Given the description of an element on the screen output the (x, y) to click on. 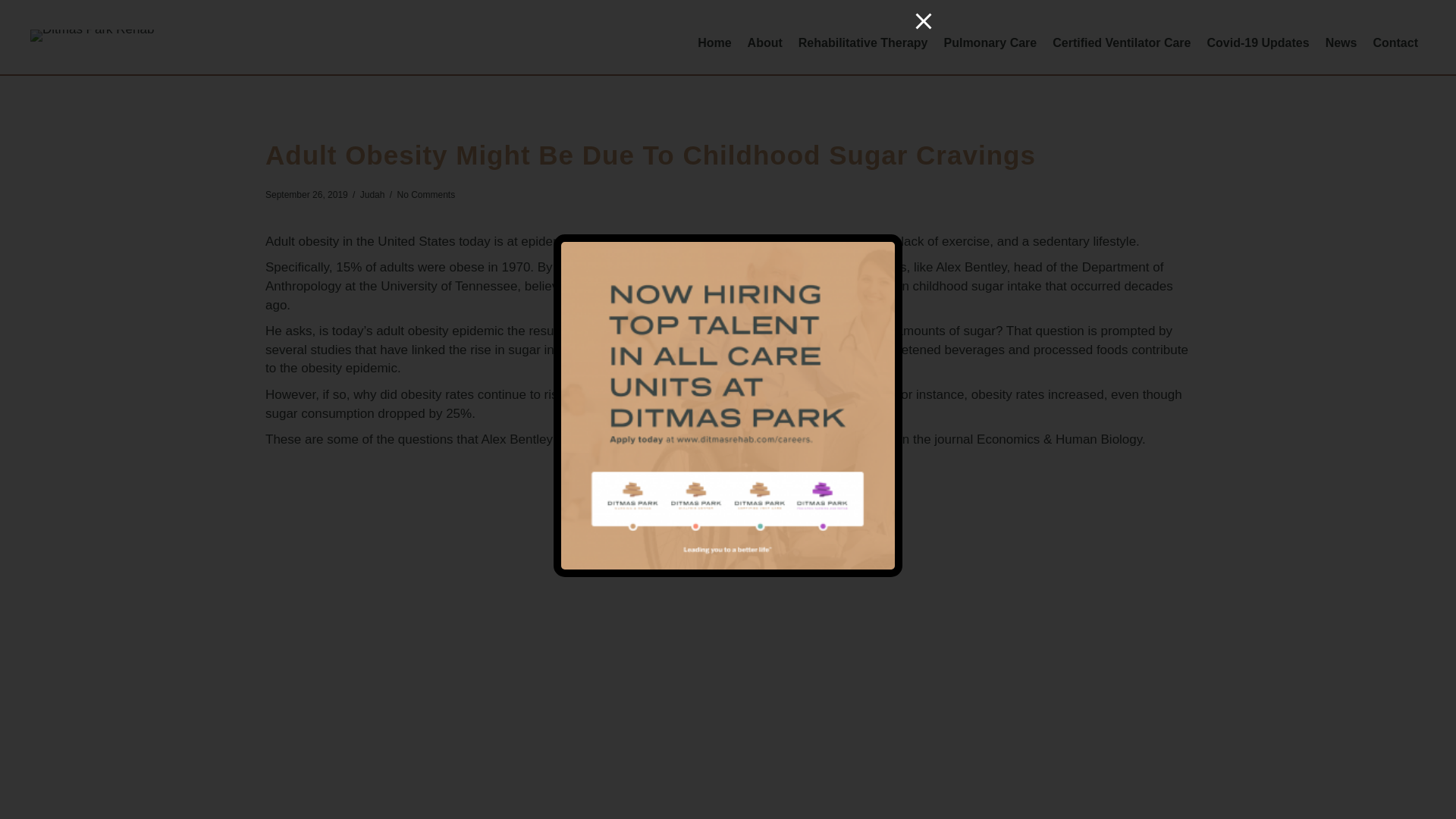
No Comments (425, 194)
Ditmas Park Rehab (92, 35)
Home (714, 42)
About (764, 42)
Contact (1395, 42)
Judah (372, 194)
Rehabilitative Therapy (863, 42)
News (1341, 42)
Certified Ventilator Care (1121, 42)
Pulmonary Care (989, 42)
